Given the description of an element on the screen output the (x, y) to click on. 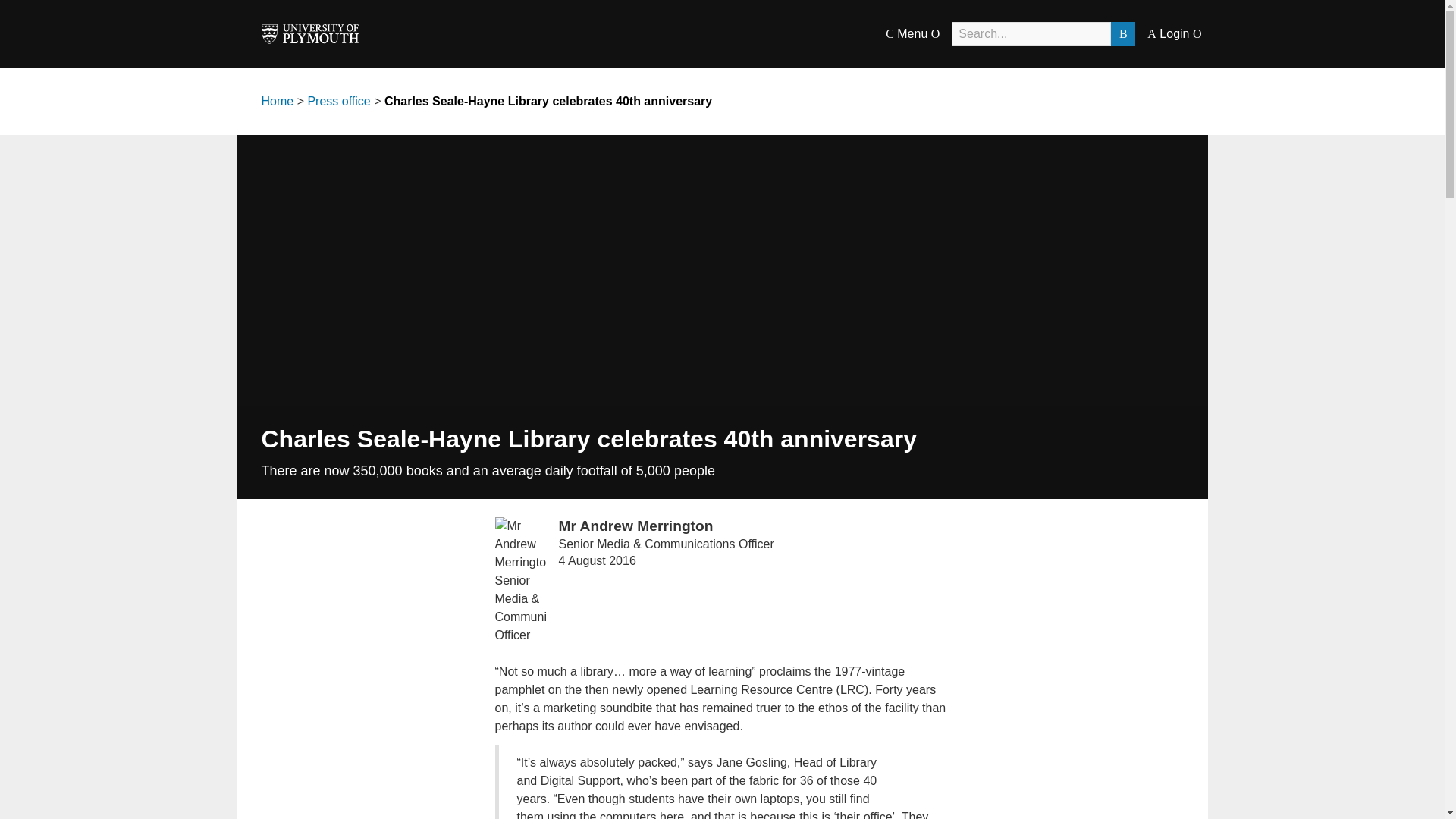
B (1122, 33)
C Menu O (911, 33)
A Login O (1174, 33)
